Given the description of an element on the screen output the (x, y) to click on. 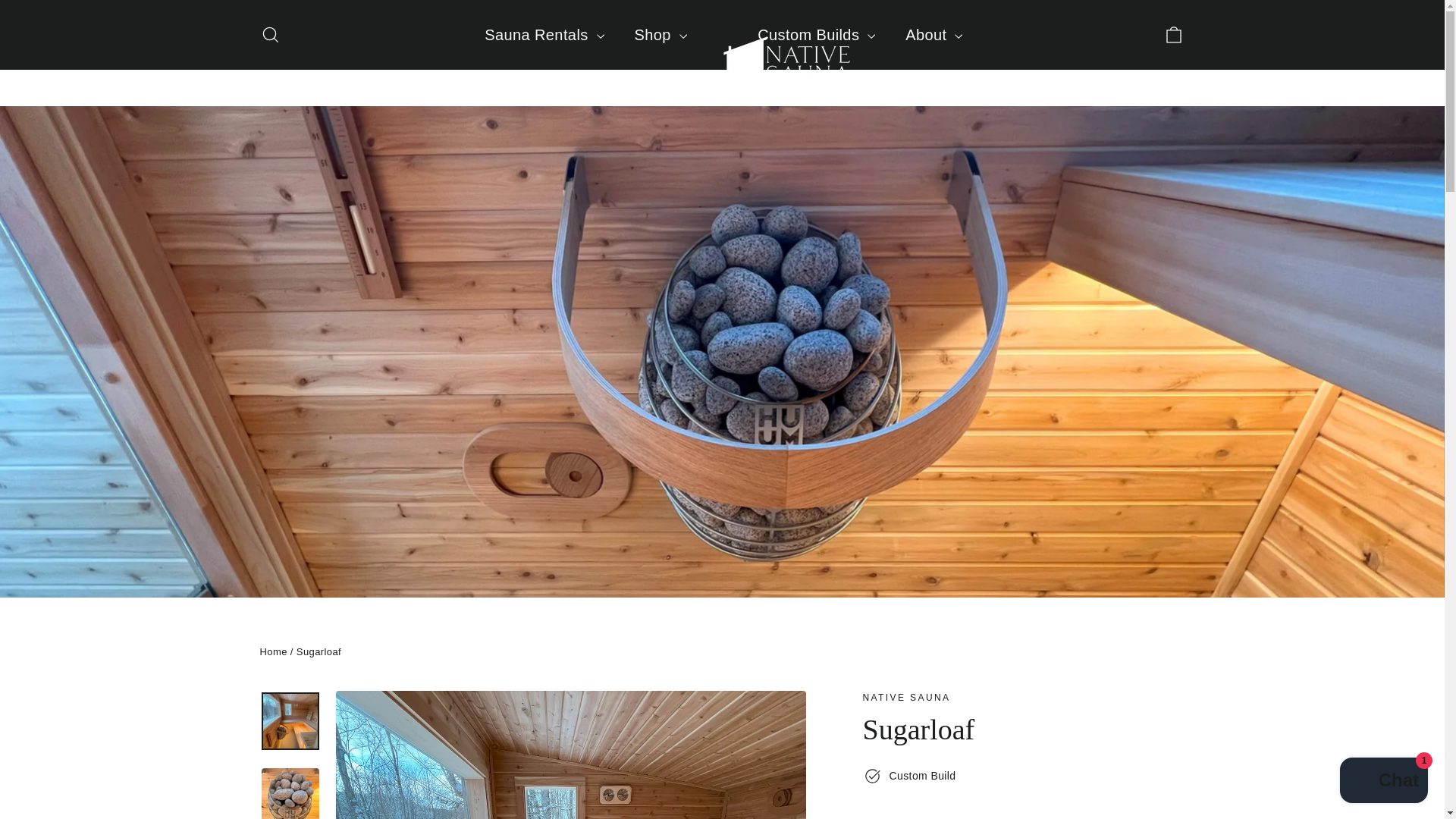
Native Sauna (906, 697)
Back to the frontpage (272, 651)
icon-search (270, 34)
icon-bag-minimal (1174, 34)
Shopify online store chat (1383, 781)
